Given the description of an element on the screen output the (x, y) to click on. 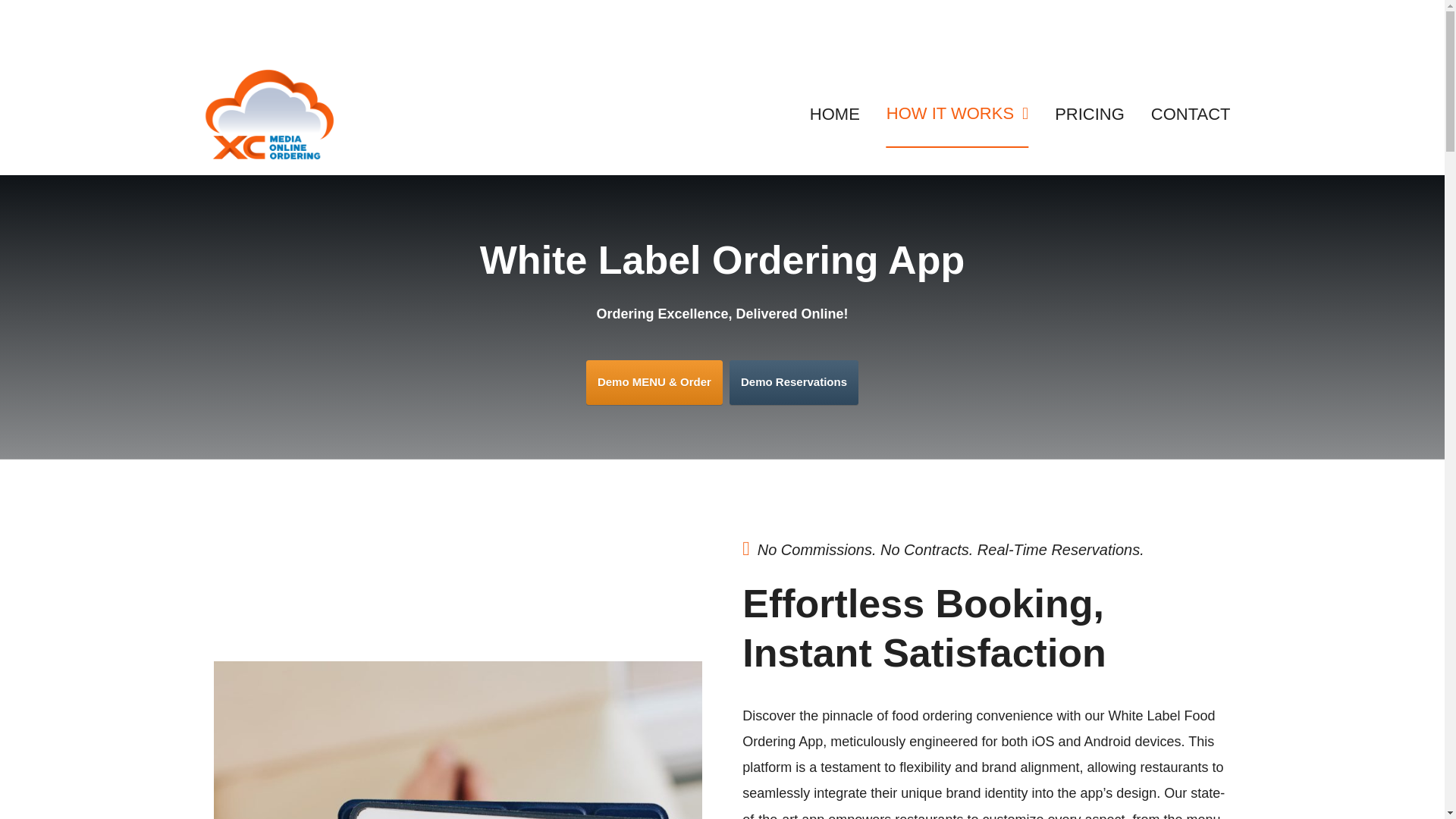
PRICING (1089, 114)
HOW IT WORKS (956, 114)
CONTACT (1190, 114)
